Given the description of an element on the screen output the (x, y) to click on. 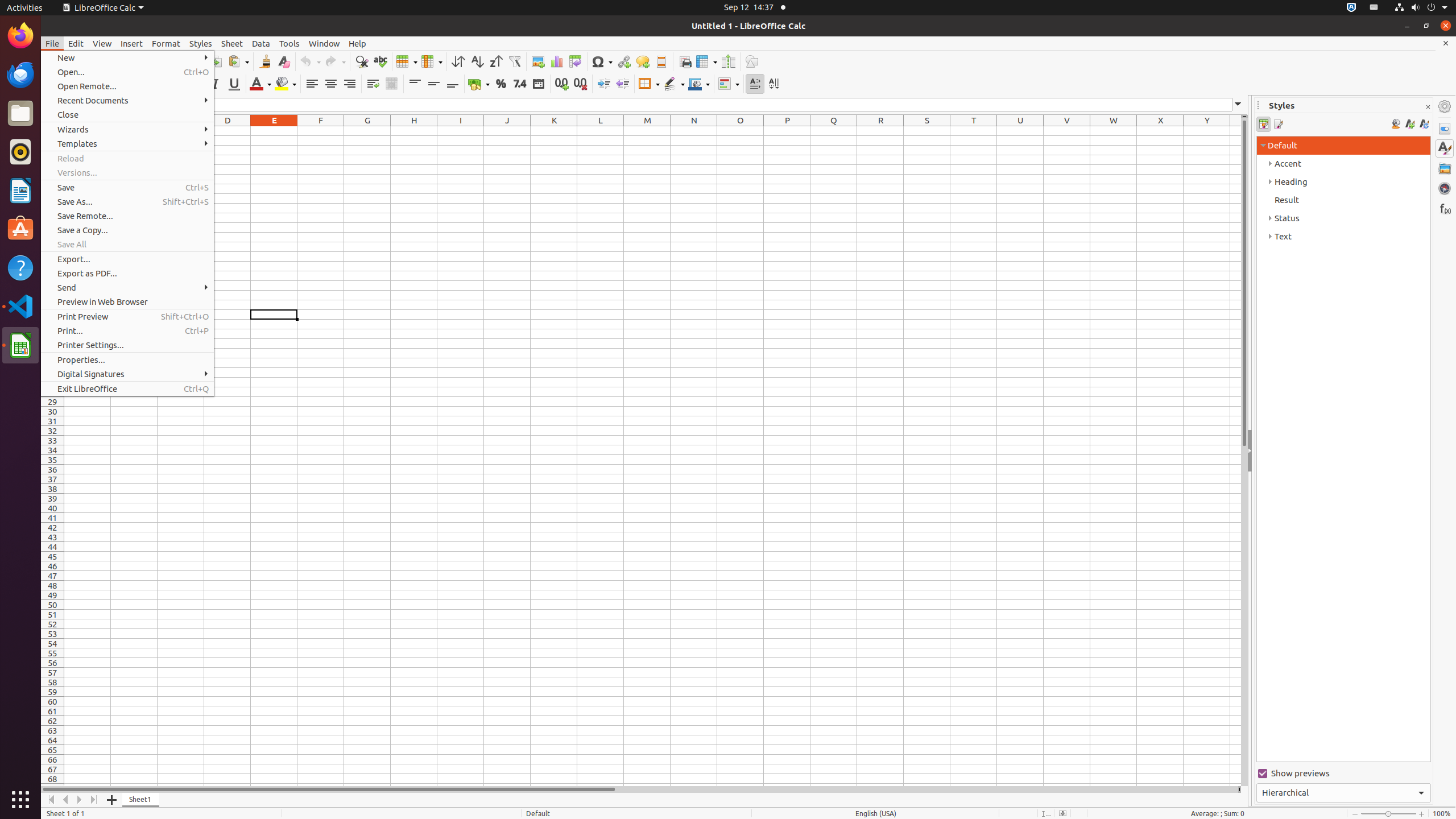
K1 Element type: table-cell (553, 130)
Print... Element type: menu-item (126, 330)
Navigator Element type: radio-button (1444, 188)
Format Element type: menu (165, 43)
Fill Format Mode Element type: push-button (1395, 123)
